Given the description of an element on the screen output the (x, y) to click on. 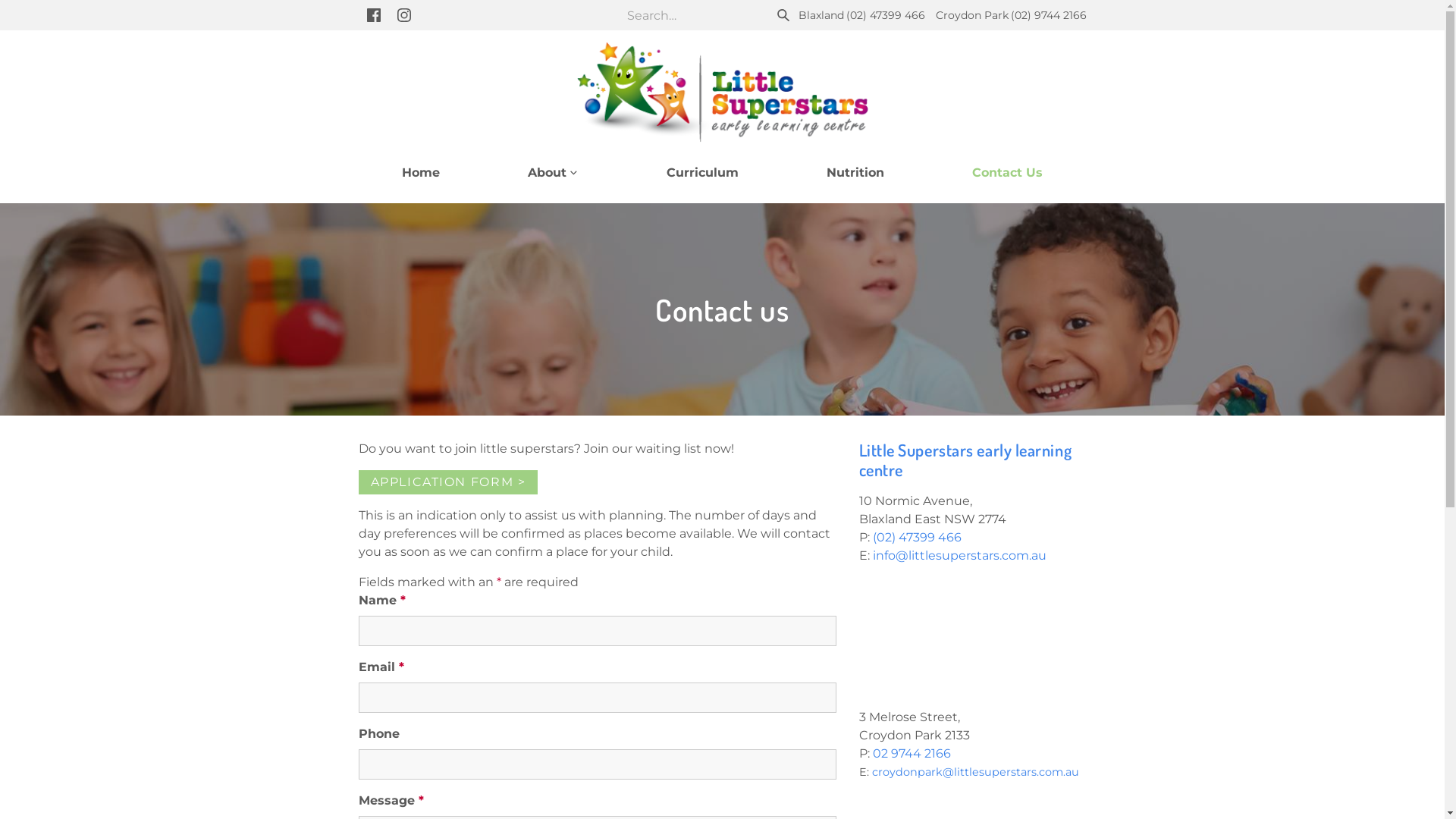
Curriculum Element type: text (702, 172)
Home Element type: text (420, 172)
Blaxland
(02) 47399 466 Element type: text (860, 15)
APPLICATION FORM Element type: text (447, 482)
Search Element type: hover (782, 15)
02 9744 2166 Element type: text (911, 753)
Contact Us Element type: text (1007, 172)
(02) 47399 466 Element type: text (914, 537)
info@littlesuperstars.com.au Element type: text (958, 555)
Nutrition Element type: text (855, 172)
About Element type: text (552, 172)
croydonpark@littlesuperstars.com.au Element type: text (975, 771)
Croydon Park
(02) 9744 2166 Element type: text (1010, 15)
